Given the description of an element on the screen output the (x, y) to click on. 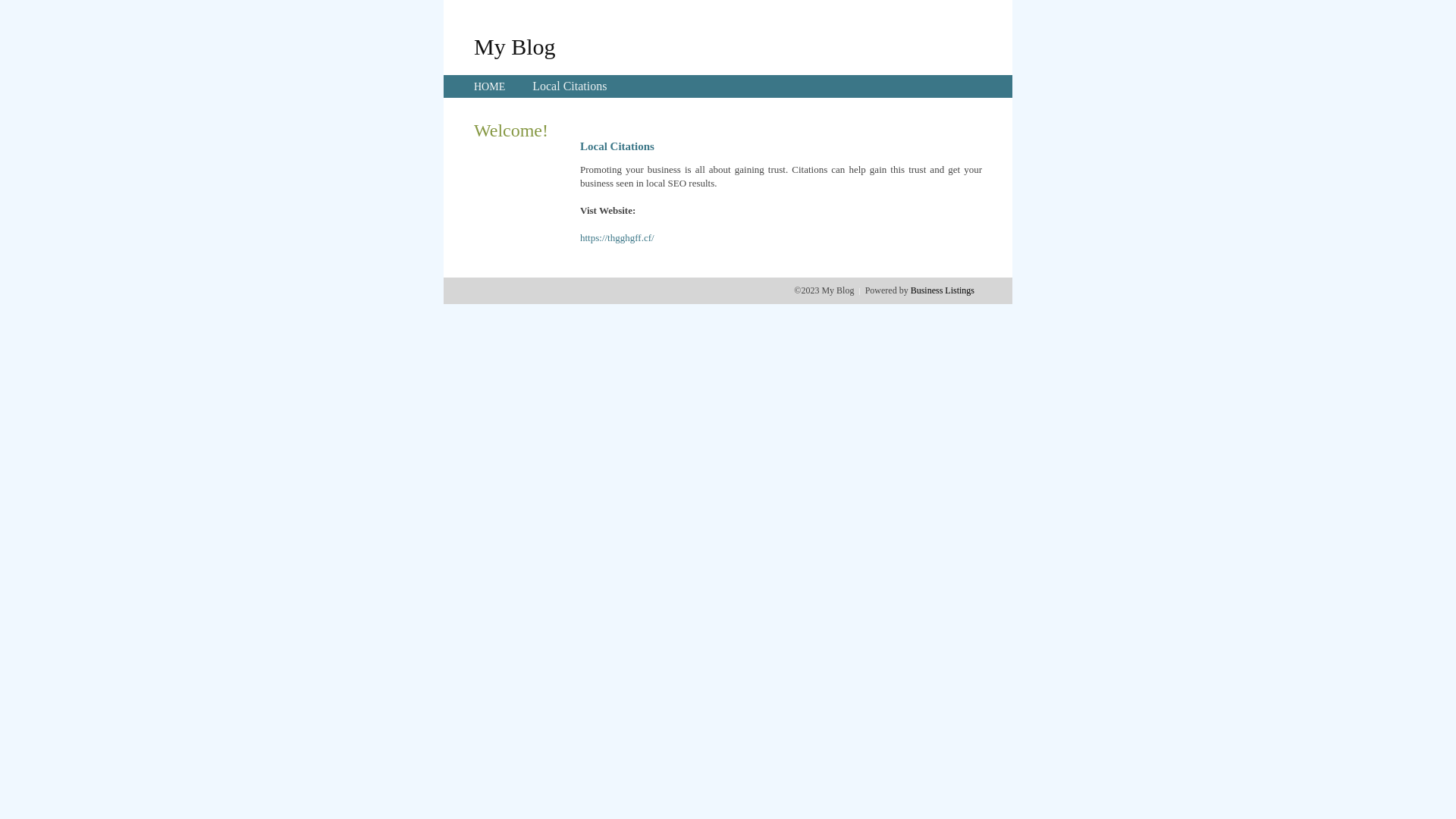
Local Citations Element type: text (569, 85)
HOME Element type: text (489, 86)
Business Listings Element type: text (942, 290)
My Blog Element type: text (514, 46)
https://thgghgff.cf/ Element type: text (617, 237)
